Given the description of an element on the screen output the (x, y) to click on. 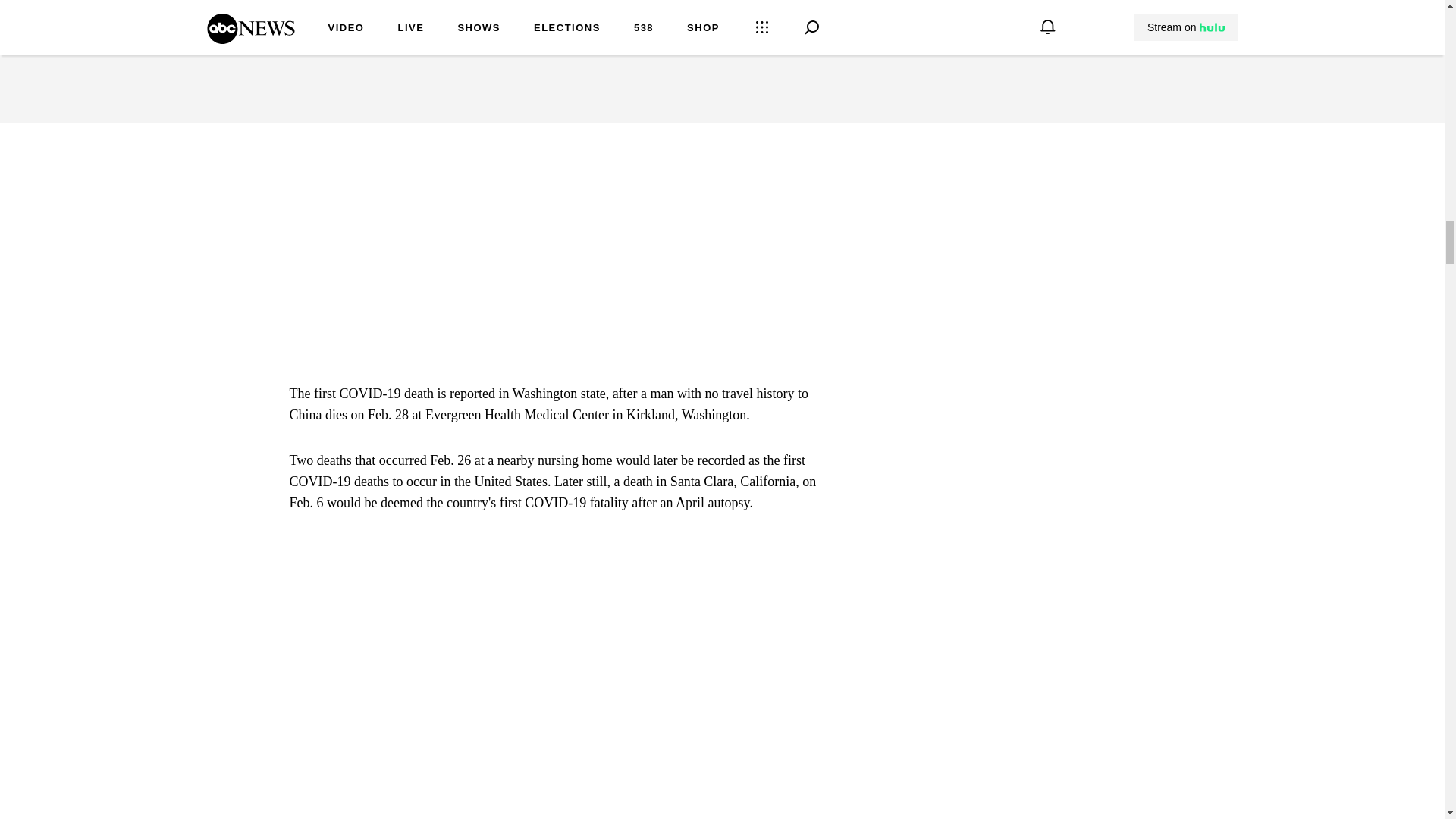
Show more (801, 21)
